Given the description of an element on the screen output the (x, y) to click on. 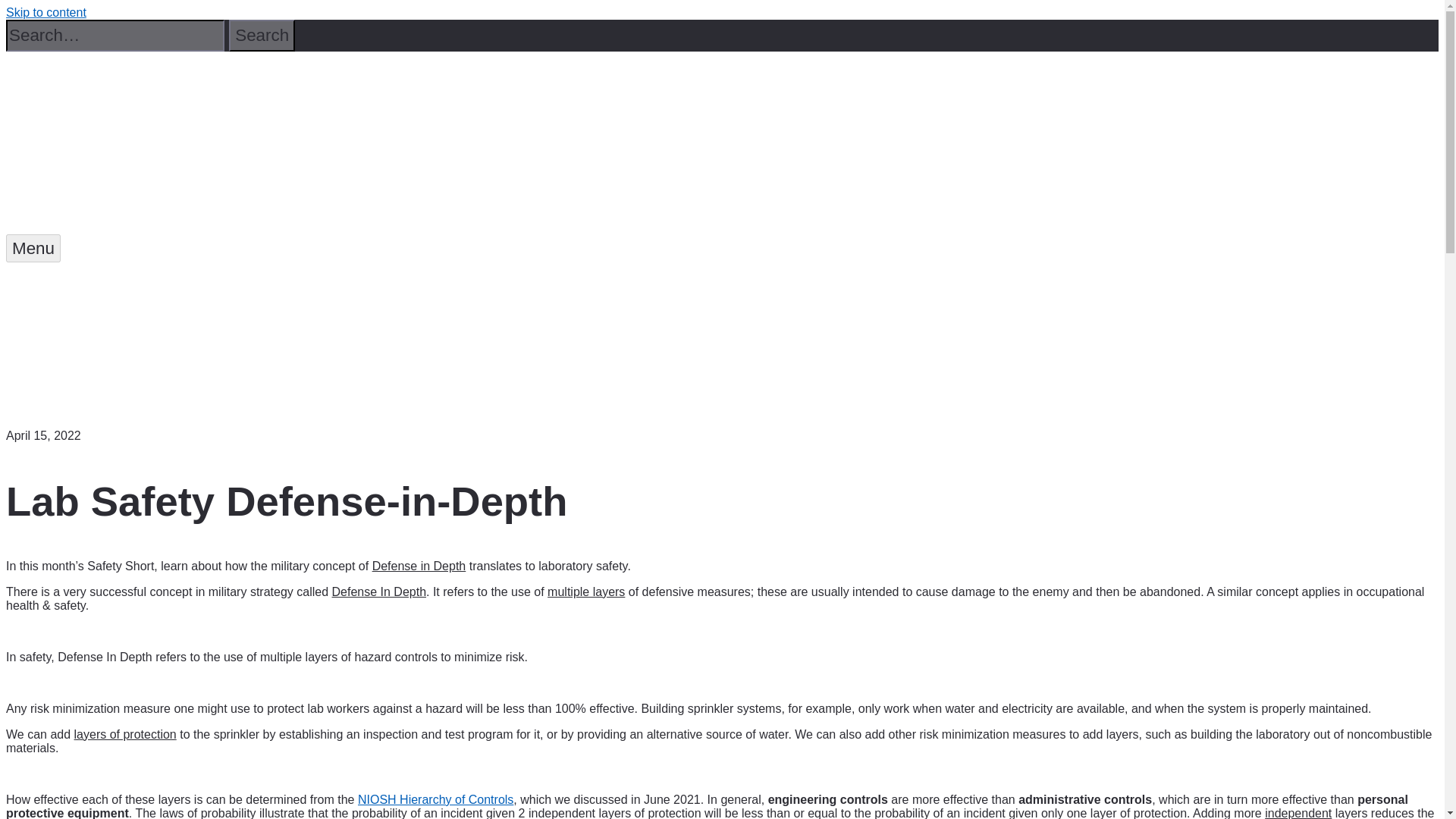
JHU Laser Safety Resources (146, 333)
Contact Us (78, 404)
Welcome! (74, 285)
Search (261, 35)
Press Enter to submit your search (114, 35)
Skip to content (45, 11)
Search (261, 35)
Lab Safety Note Index (120, 381)
Menu (33, 248)
Search (261, 35)
